Given the description of an element on the screen output the (x, y) to click on. 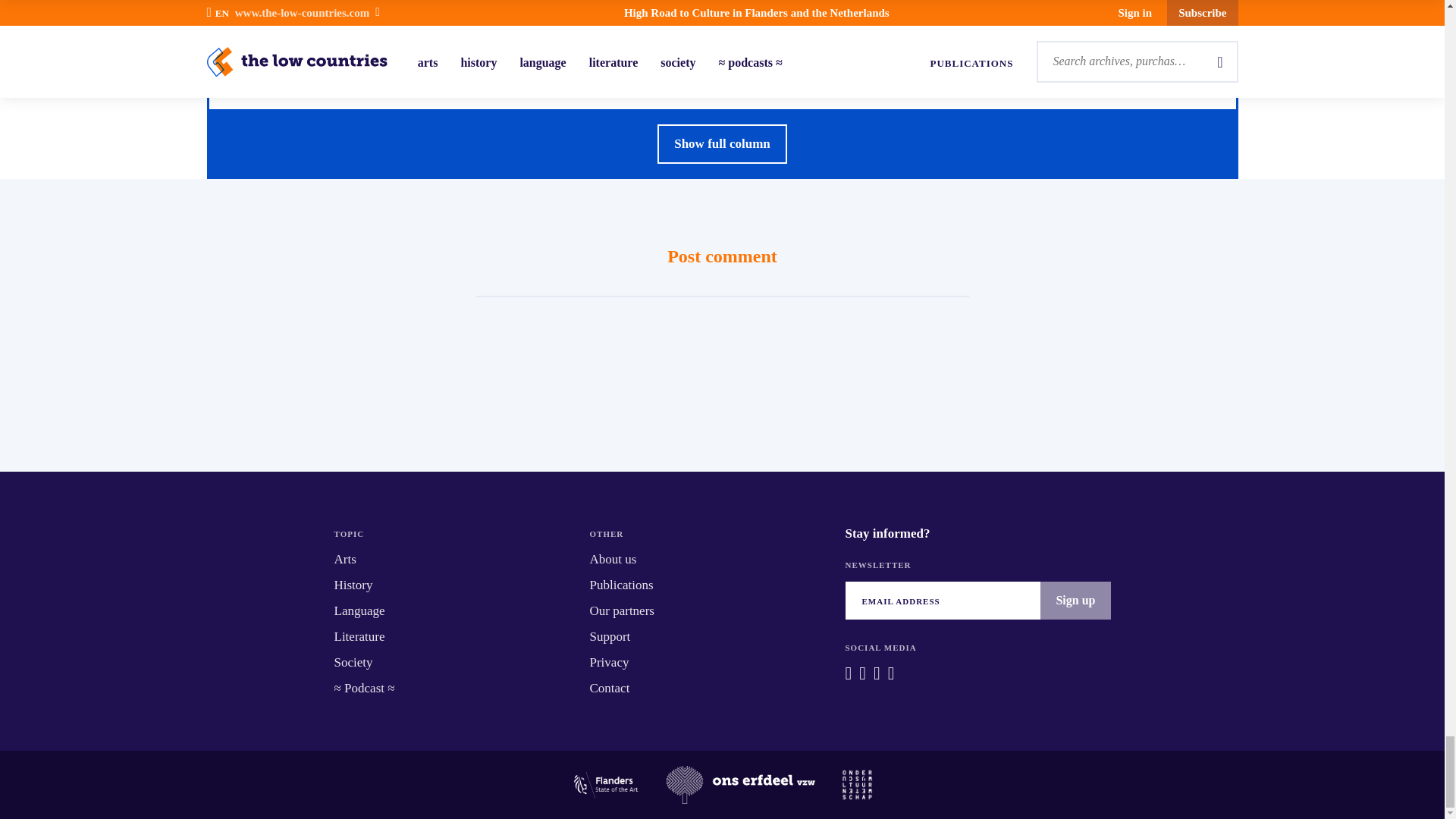
Logo-ons-erfdeel-negatief (740, 784)
Logo-Flanders (605, 784)
Logo-ocw (857, 784)
Sign up (1075, 600)
